Given the description of an element on the screen output the (x, y) to click on. 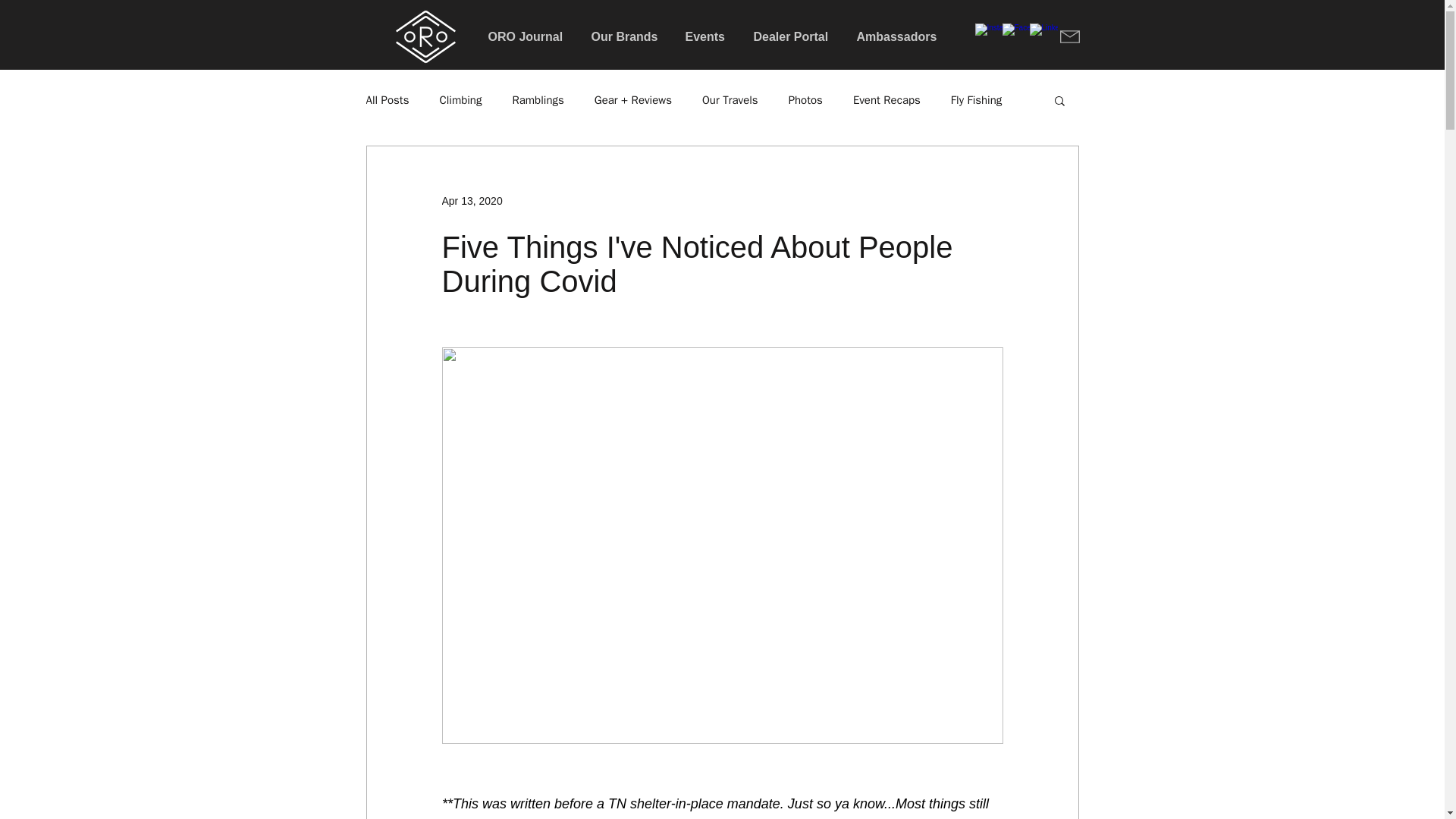
ORO Journal (527, 36)
All Posts (387, 99)
Photos (805, 99)
Apr 13, 2020 (471, 200)
Our Travels (729, 99)
Event Recaps (886, 99)
Our Brands (625, 36)
Climbing (460, 99)
Events (706, 36)
Ramblings (537, 99)
